Given the description of an element on the screen output the (x, y) to click on. 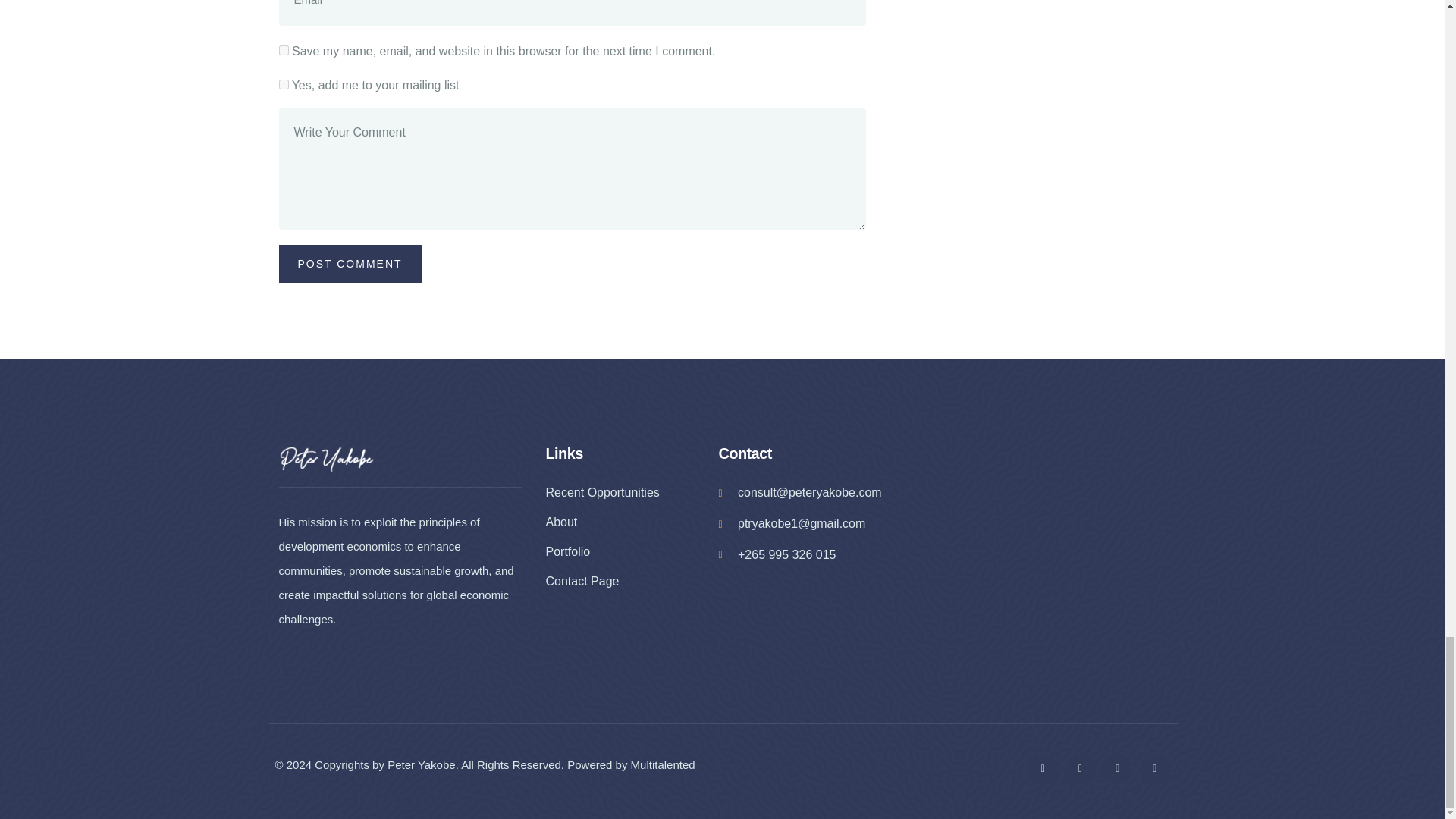
Post Comment (350, 263)
Home (326, 457)
yes (283, 50)
1 (283, 84)
